Given the description of an element on the screen output the (x, y) to click on. 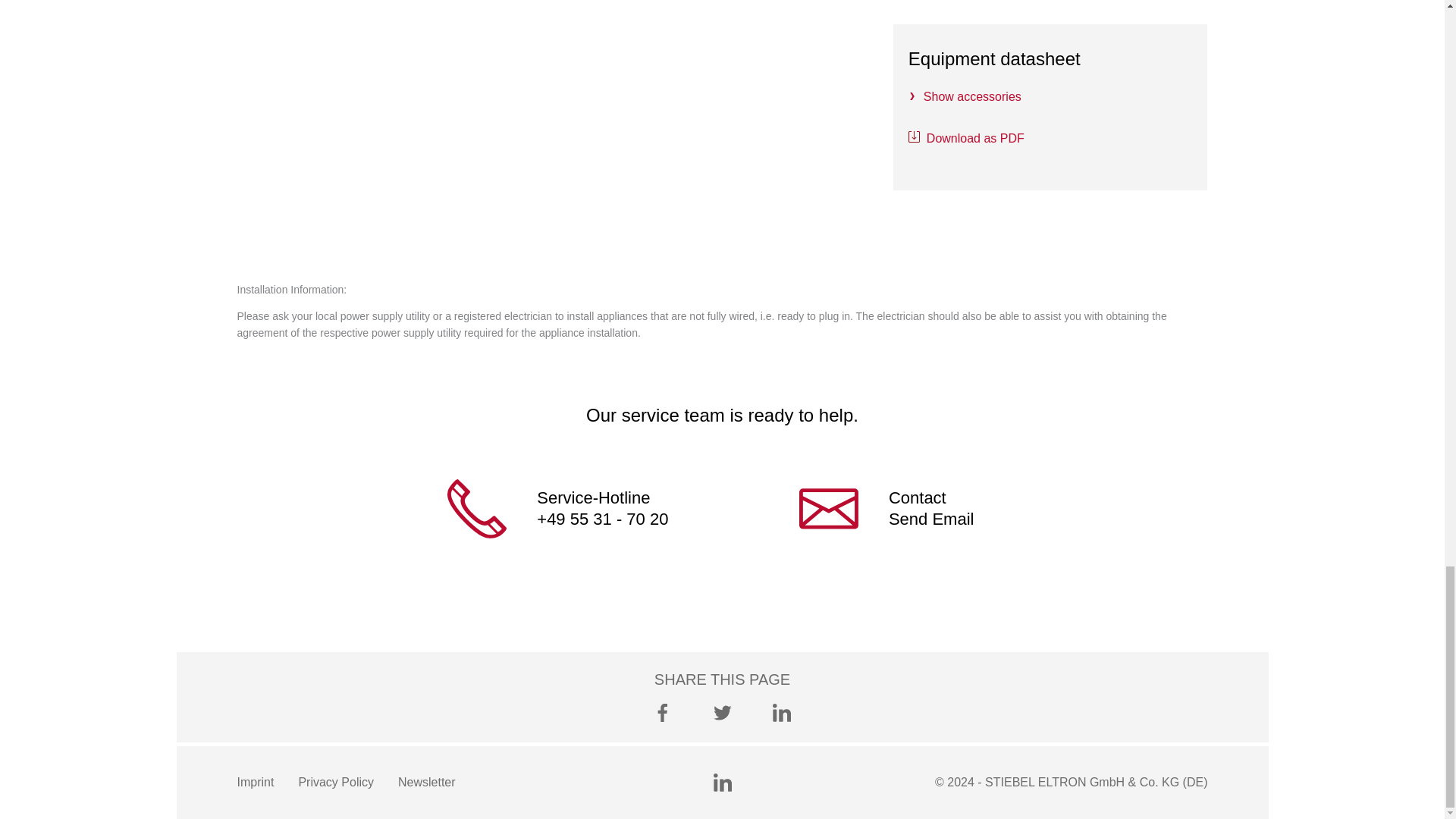
LinkedIn (781, 712)
Facebook (662, 712)
Twitter (721, 712)
LinkedIn (721, 782)
